Given the description of an element on the screen output the (x, y) to click on. 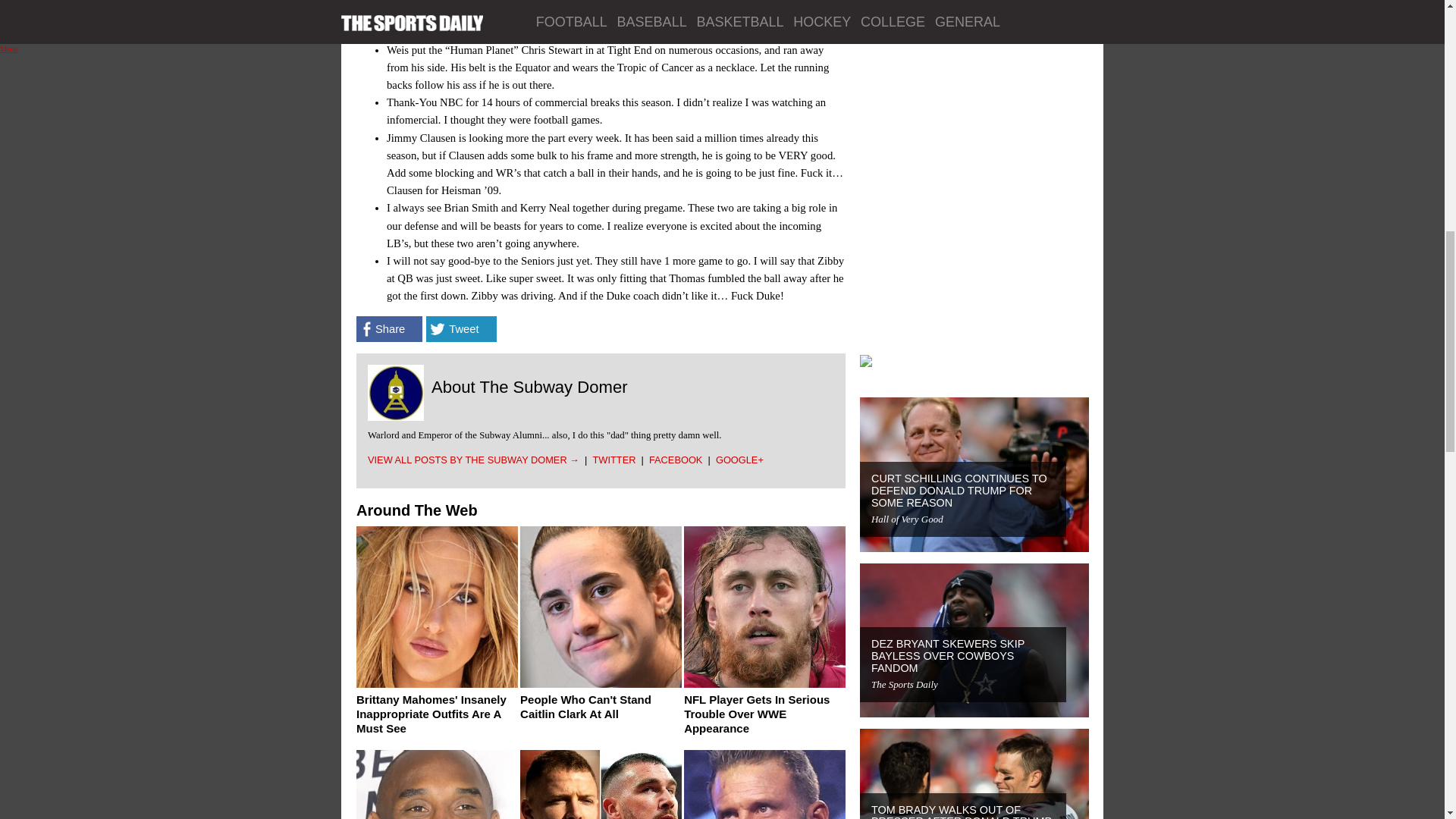
Dez Bryant skewers Skip Bayless over Cowboys fandom (947, 656)
Advertisement (973, 50)
